Given the description of an element on the screen output the (x, y) to click on. 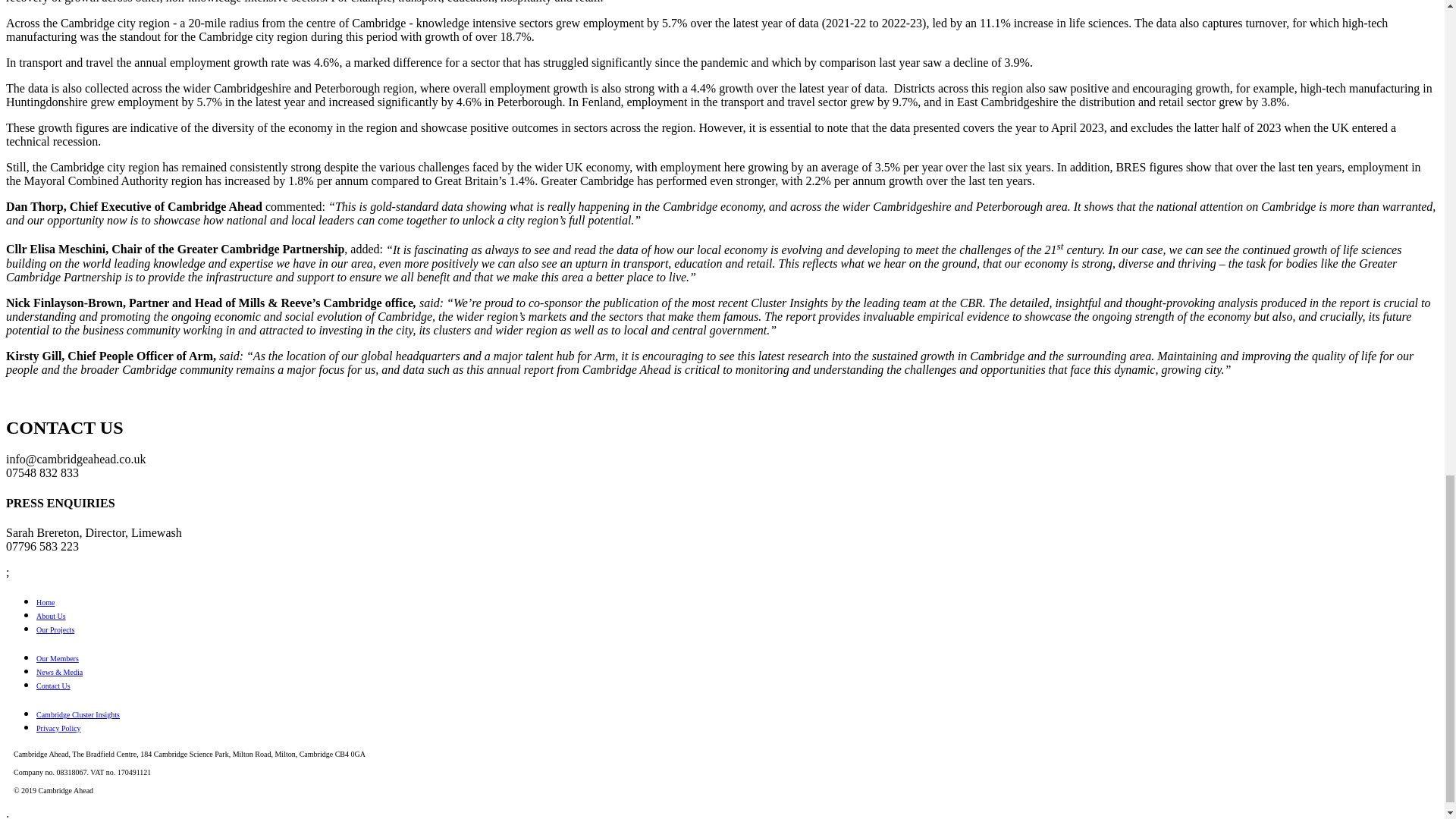
Privacy Policy (58, 727)
Our Projects (55, 629)
Our Members (57, 658)
Contact Us (52, 685)
Cambridge Cluster Insights (77, 714)
About Us (50, 615)
Home (45, 602)
